Given the description of an element on the screen output the (x, y) to click on. 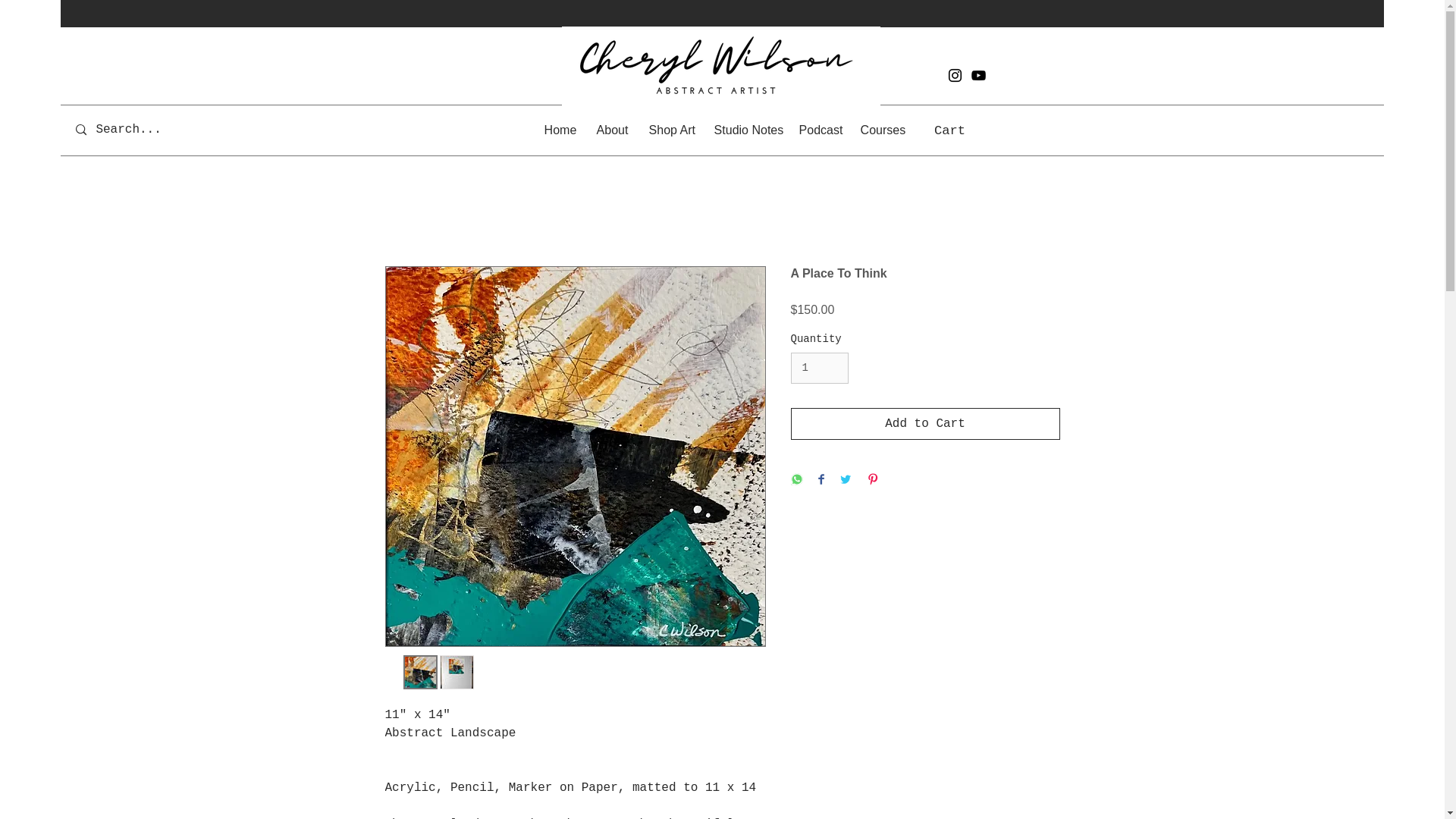
Podcast (817, 129)
Cart (966, 129)
About (611, 129)
Studio Notes (745, 129)
Home (558, 129)
1 (818, 368)
Add to Cart (924, 423)
Cart (966, 129)
Courses (879, 129)
